Given the description of an element on the screen output the (x, y) to click on. 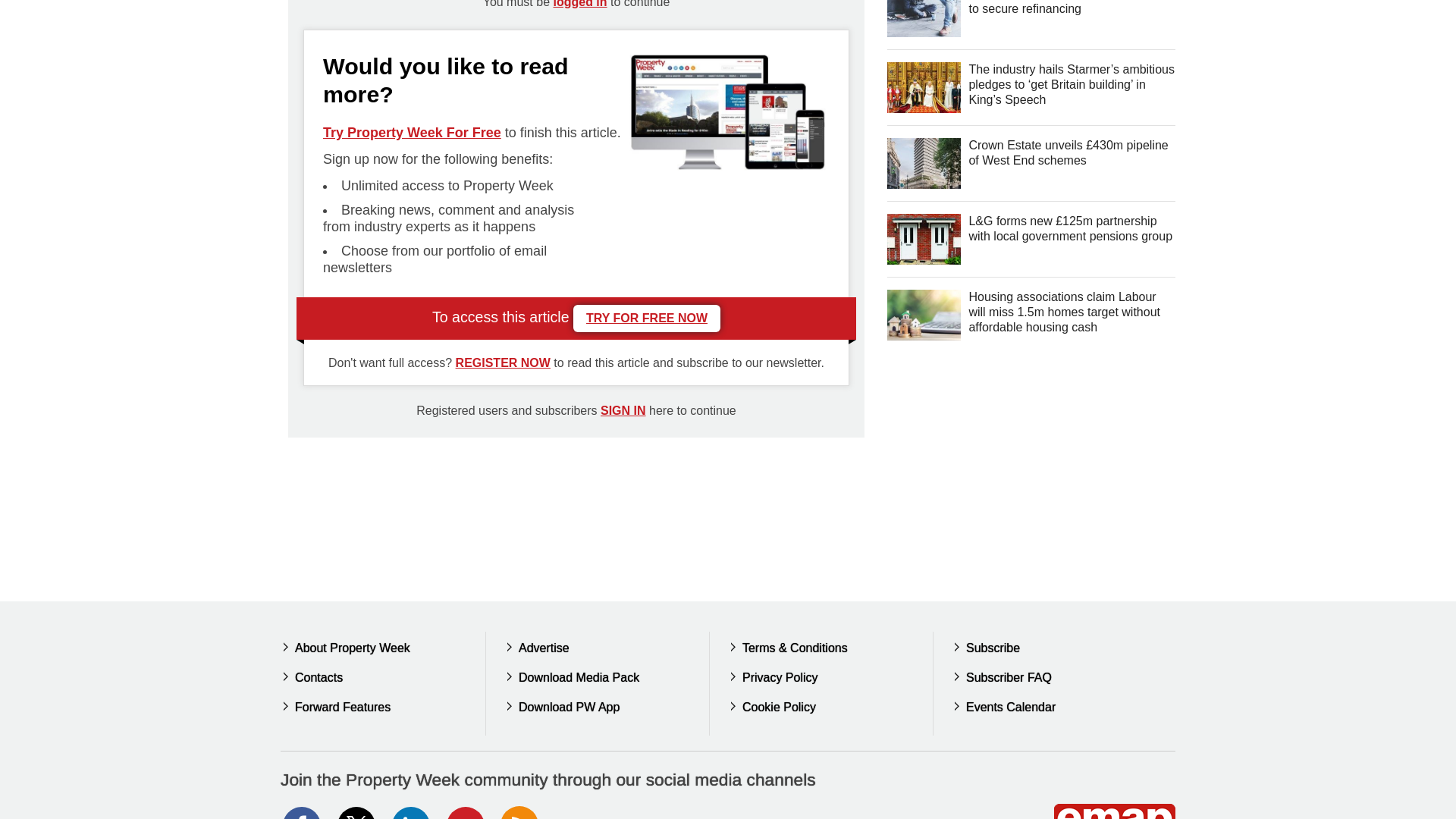
Home REIT to wind down after failing to secure refinancing (923, 18)
